Given the description of an element on the screen output the (x, y) to click on. 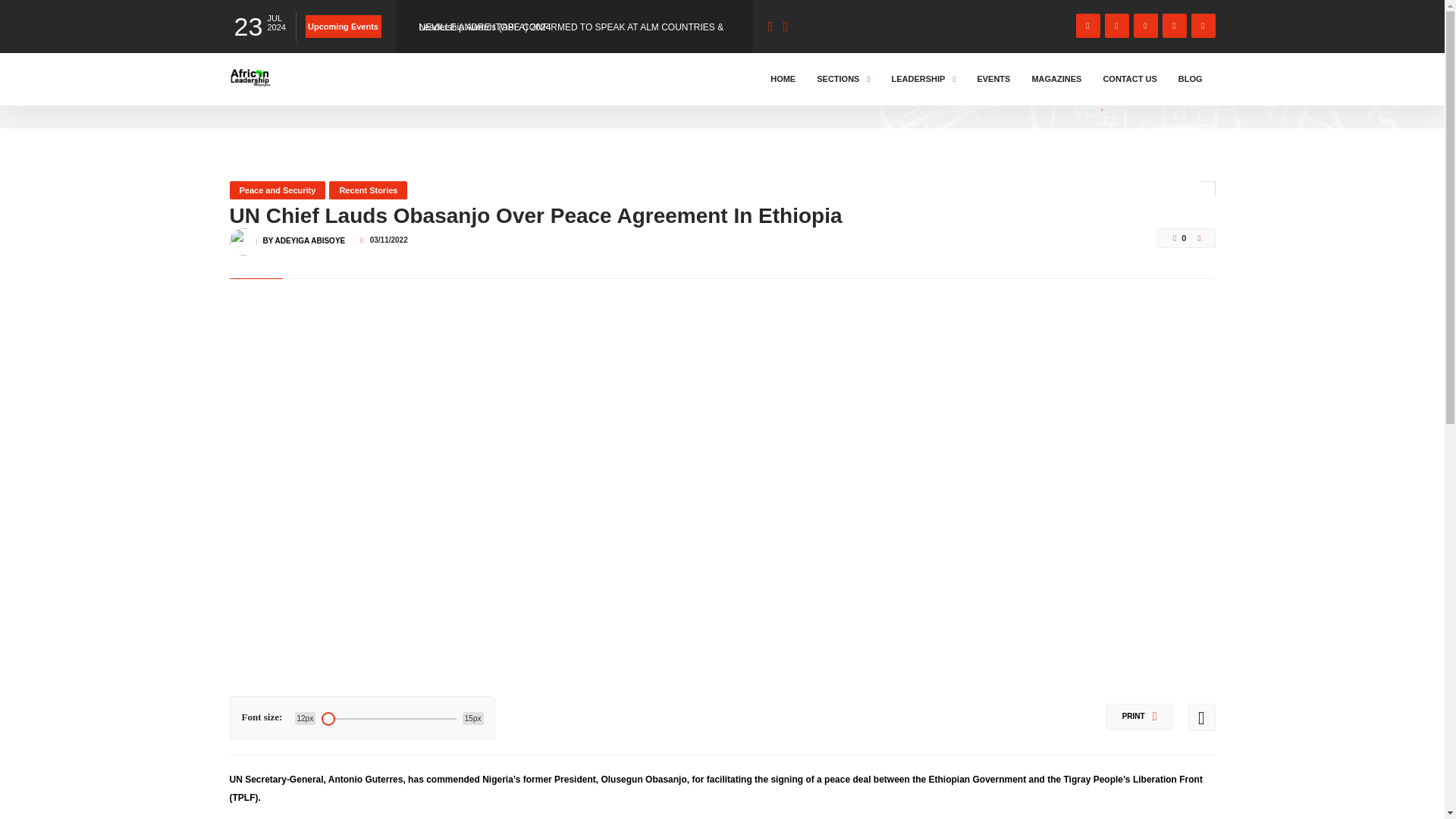
Peace and Security (276, 189)
Scroll Down To Discover (1154, 88)
EVENTS (992, 79)
Recent Stories (368, 189)
CONTACT US (1129, 79)
BY ADEYIGA ABISOYE (303, 233)
MAGAZINES (1056, 79)
HOME (782, 79)
HOME (246, 92)
BLOG (293, 92)
LEADERSHIP (922, 79)
BLOG (1190, 79)
SECTIONS (842, 79)
